Given the description of an element on the screen output the (x, y) to click on. 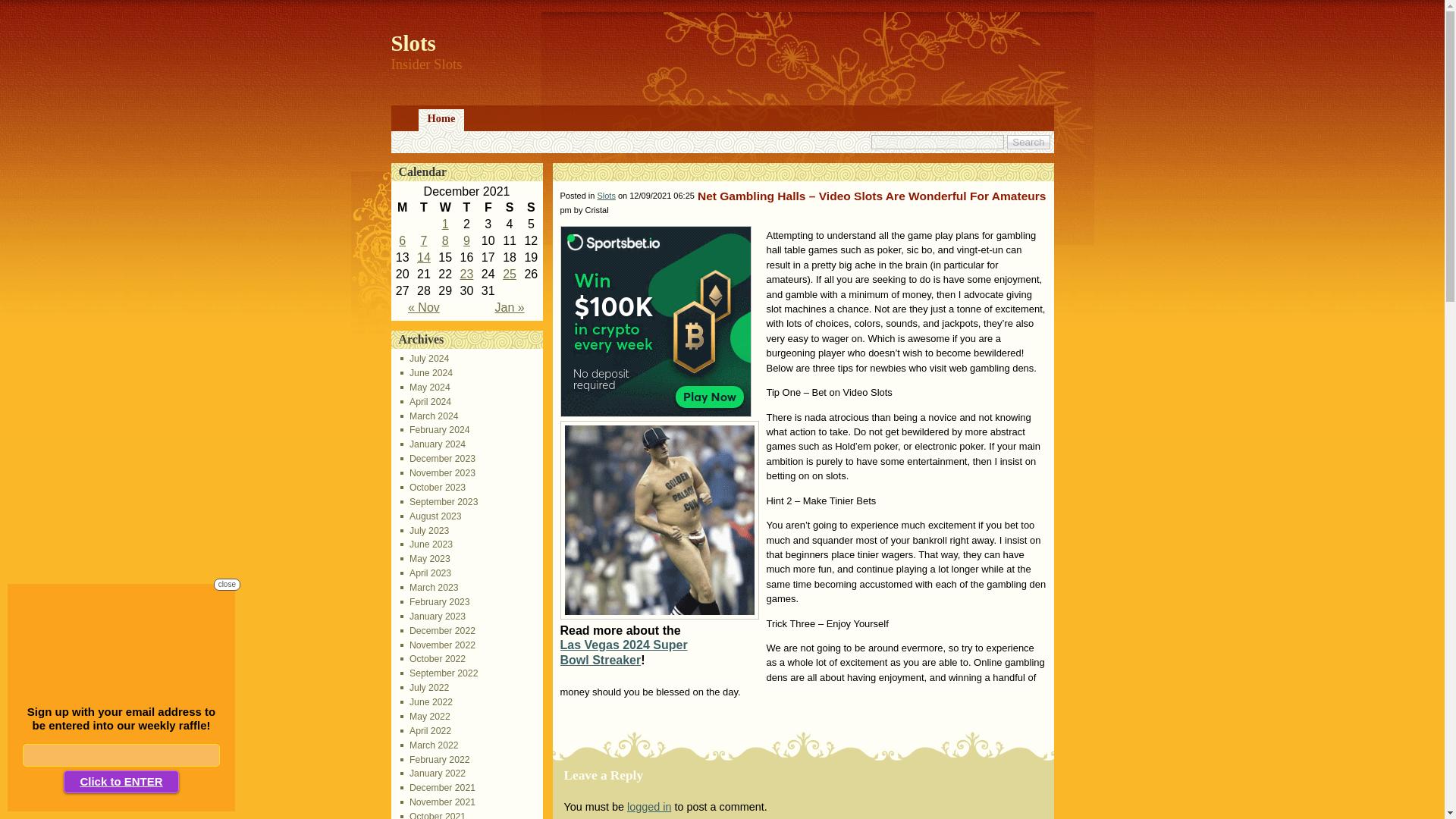
Sunday (530, 207)
February 2023 (435, 602)
March 2024 (429, 416)
July 2023 (424, 530)
Tuesday (423, 207)
1 (445, 223)
Wagering on Slots (445, 240)
July 2024 (424, 357)
General Rules for Playing the slot machines (445, 223)
General Rules for Playing one armed bandits (423, 240)
View posts for November 2021 (423, 307)
August 2023 (430, 516)
October 2022 (432, 658)
Friday (488, 207)
December 2023 (438, 458)
